Given the description of an element on the screen output the (x, y) to click on. 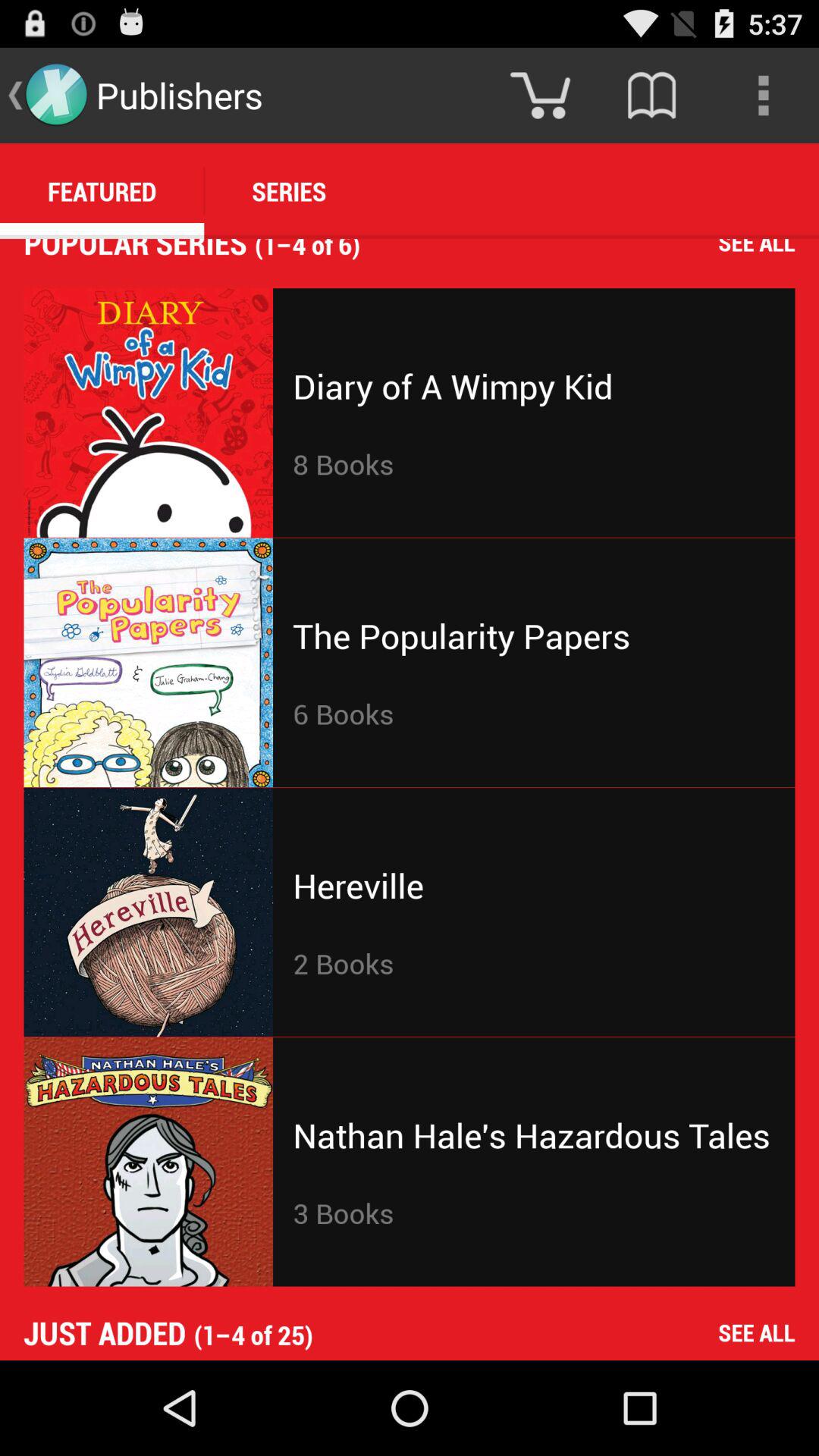
open the item above the popular series icon (102, 190)
